Given the description of an element on the screen output the (x, y) to click on. 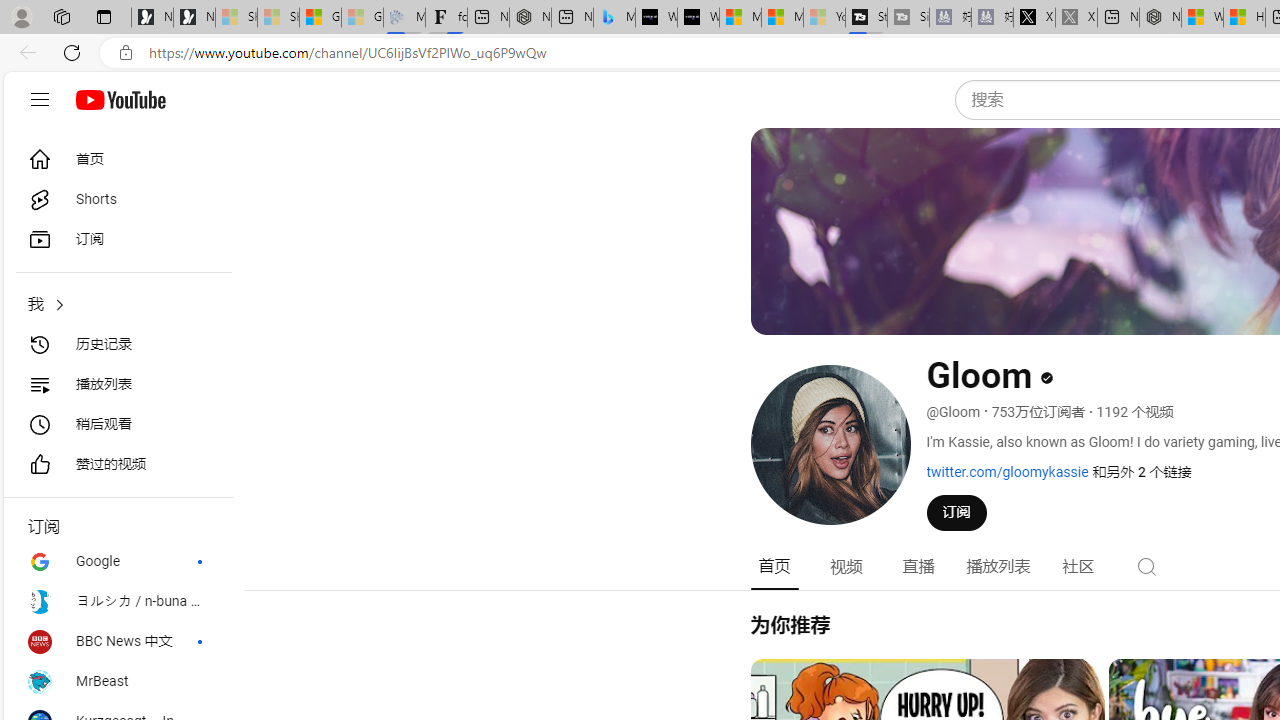
Microsoft Bing Travel - Shangri-La Hotel Bangkok (613, 17)
MrBeast (117, 681)
Streaming Coverage | T3 (866, 17)
Nordace - My Account (1160, 17)
